Given the description of an element on the screen output the (x, y) to click on. 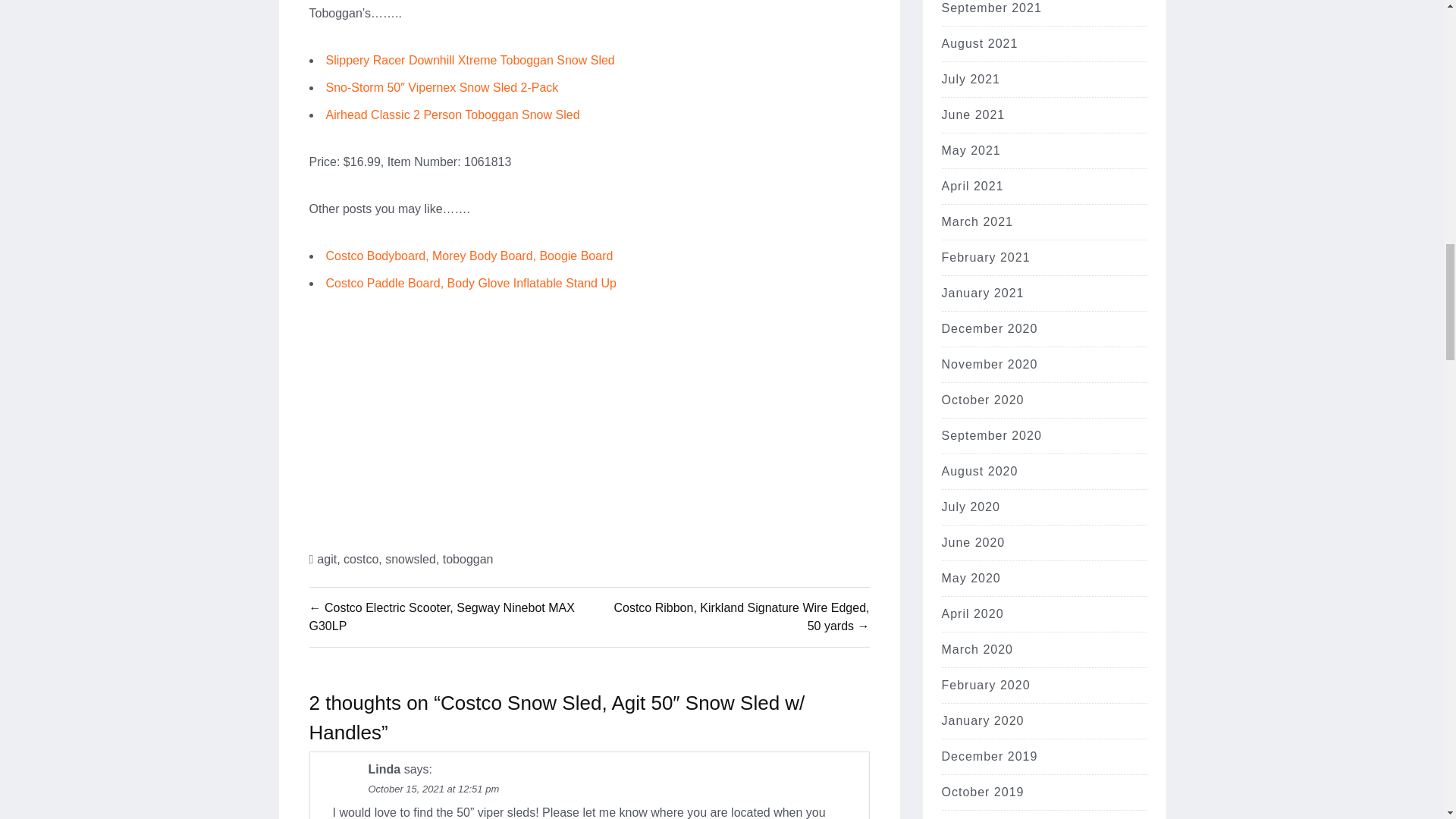
costco (360, 558)
Airhead Classic 2 Person Toboggan Snow Sled (452, 114)
agit (326, 558)
Costco Bodyboard, Morey Body Board, Boogie Board (469, 255)
Slippery Racer Downhill Xtreme Toboggan Snow Sled (470, 60)
snowsled (410, 558)
October 15, 2021 at 12:51 pm (433, 788)
Costco Paddle Board, Body Glove Inflatable Stand Up (470, 282)
toboggan (467, 558)
